Given the description of an element on the screen output the (x, y) to click on. 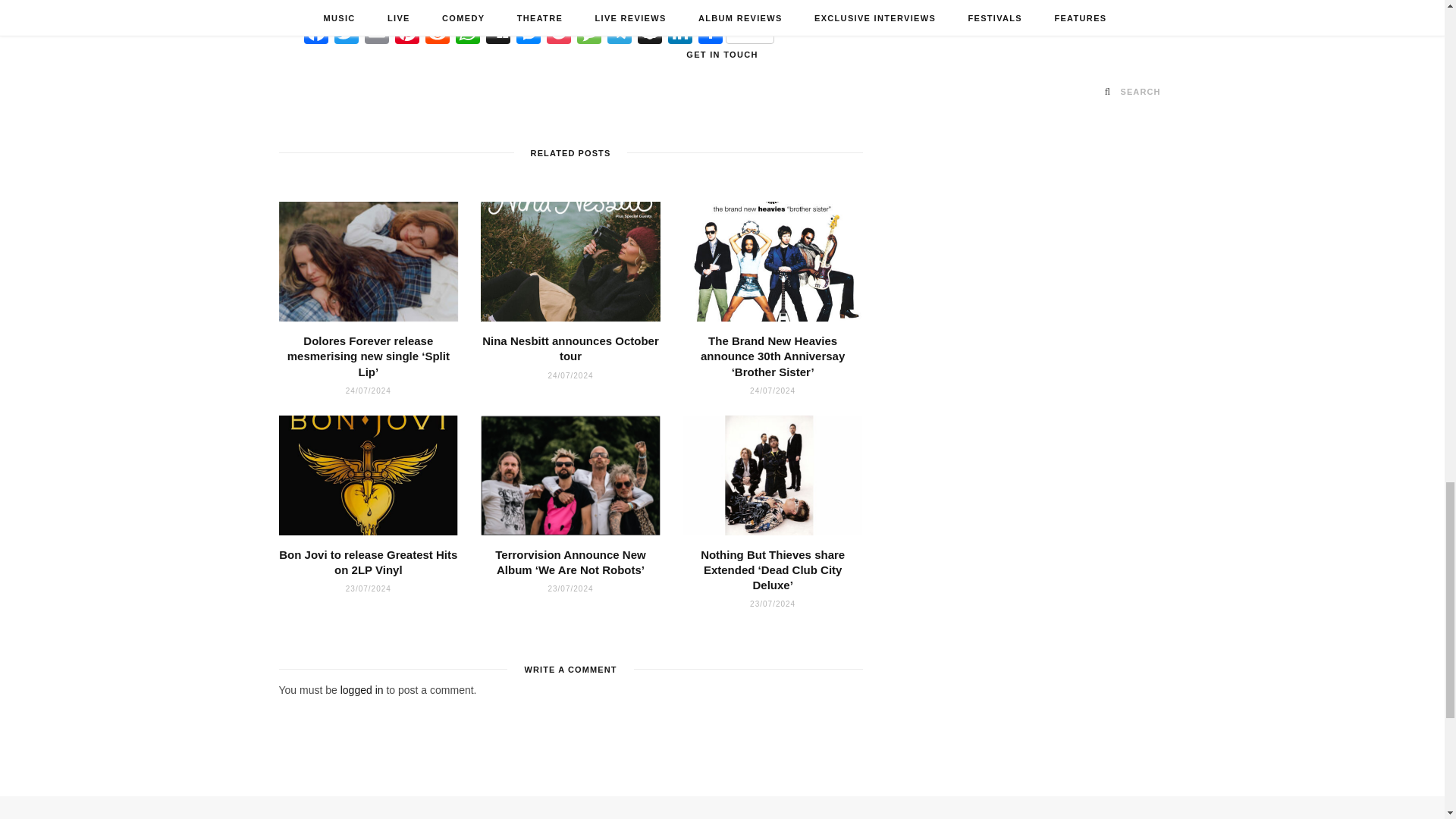
Messenger (528, 33)
Telegram (619, 33)
Telegram (619, 33)
WhatsApp (467, 33)
Pinterest (406, 33)
Reddit (437, 33)
Digg (498, 33)
Email (376, 33)
Snapchat (649, 33)
Pinterest (406, 33)
Digg (498, 33)
Message (588, 33)
Snapchat (649, 33)
Message (588, 33)
Messenger (528, 33)
